Given the description of an element on the screen output the (x, y) to click on. 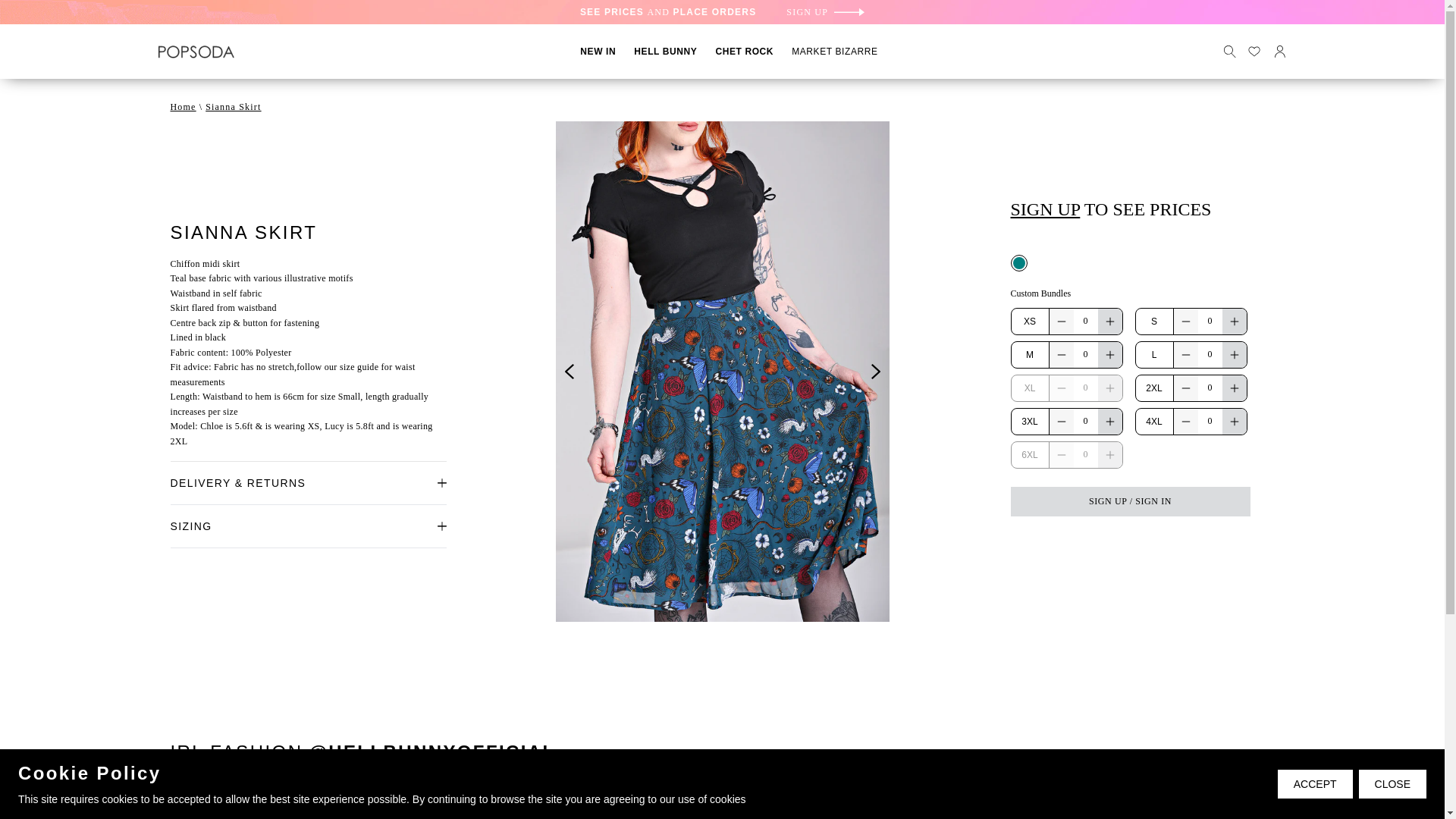
MARKET BIZARRE (834, 50)
0 (1085, 387)
0 (1085, 453)
0 (1210, 320)
0 (1210, 387)
0 (1085, 320)
0 (1210, 420)
0 (1210, 353)
0 (1085, 353)
Hell bunny logo (194, 51)
